Given the description of an element on the screen output the (x, y) to click on. 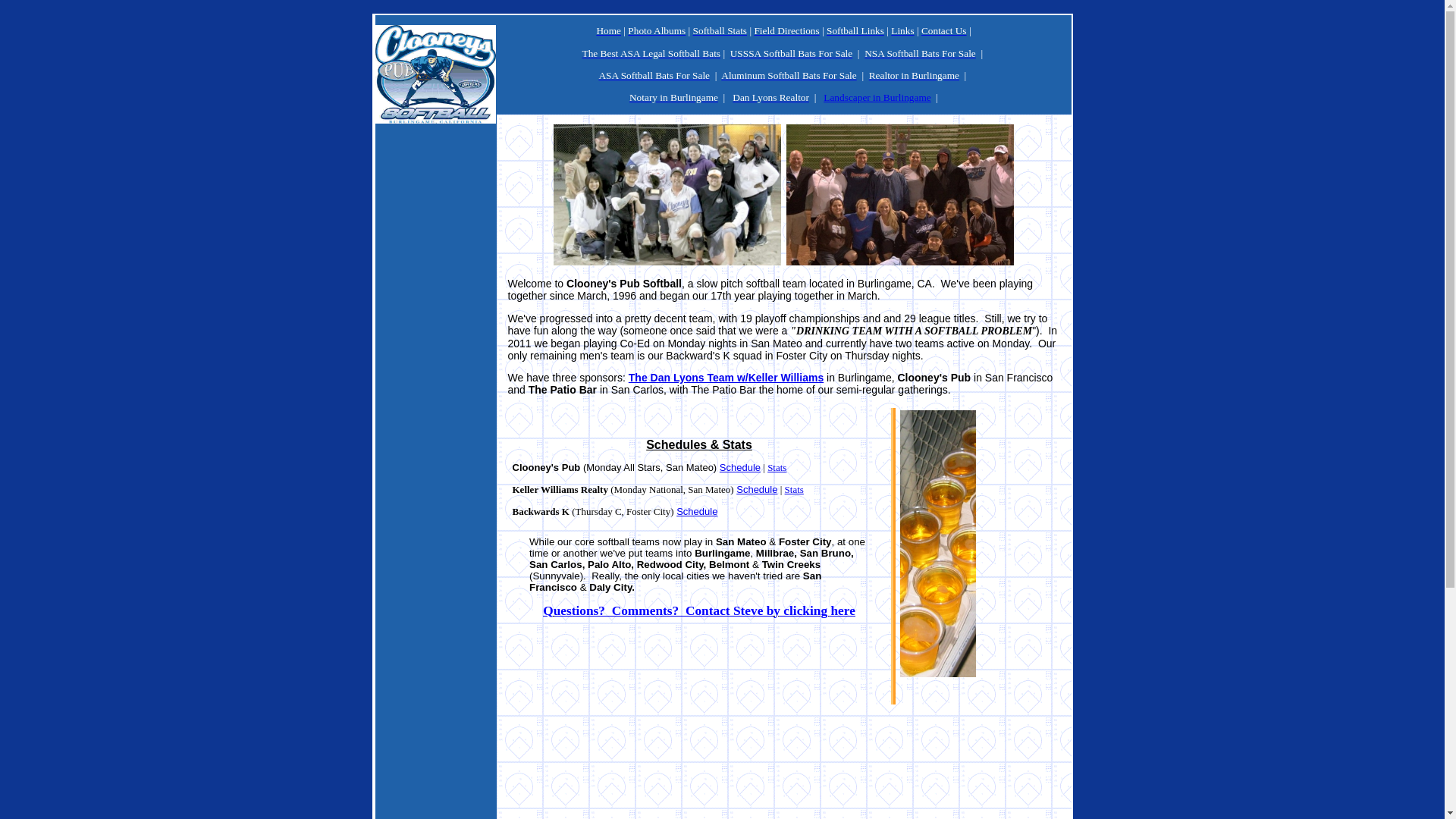
Softball Links Element type: text (855, 30)
Advertisement Element type: hover (784, 712)
Schedule Element type: text (756, 489)
Schedule Element type: text (696, 511)
Home Element type: text (608, 30)
San Carlos Element type: text (555, 564)
Advertisement Element type: hover (434, 372)
Photo Albums Element type: text (656, 30)
NSA Softball Bats For Sale Element type: text (919, 53)
Questions?  Comments?  Contact Steve by clicking here Element type: text (698, 610)
Daly City Element type: text (610, 587)
Softball Stats Element type: text (719, 30)
Schedule Element type: text (739, 467)
The Dan Lyons Team w/Keller Williams Element type: text (725, 377)
Contact Us Element type: text (943, 30)
Twin Creeks Element type: text (791, 564)
Redwood City Element type: text (670, 564)
San Bruno Element type: text (825, 552)
Belmont Element type: text (729, 564)
Burlingame Element type: text (721, 552)
Links Element type: text (902, 30)
Landscaper in Burlingame Element type: text (876, 97)
Realtor in Burlingame Element type: text (914, 75)
Field Directions Element type: text (786, 30)
The Best ASA Legal Softball Bats Element type: text (651, 53)
Aluminum Softball Bats For Sale Element type: text (788, 75)
Notary in Burlingame Element type: text (673, 97)
USSSA Softball Bats For Sale Element type: text (791, 53)
Palo Alto Element type: text (608, 564)
Millbrae Element type: text (774, 552)
Dan Lyons Realtor Element type: text (770, 97)
ASA Softball Bats For Sale Element type: text (653, 75)
San Mateo Element type: text (740, 541)
San Francisco Element type: text (675, 581)
Foster City Element type: text (804, 541)
Stats Element type: text (776, 467)
Stats Element type: text (793, 489)
